Given the description of an element on the screen output the (x, y) to click on. 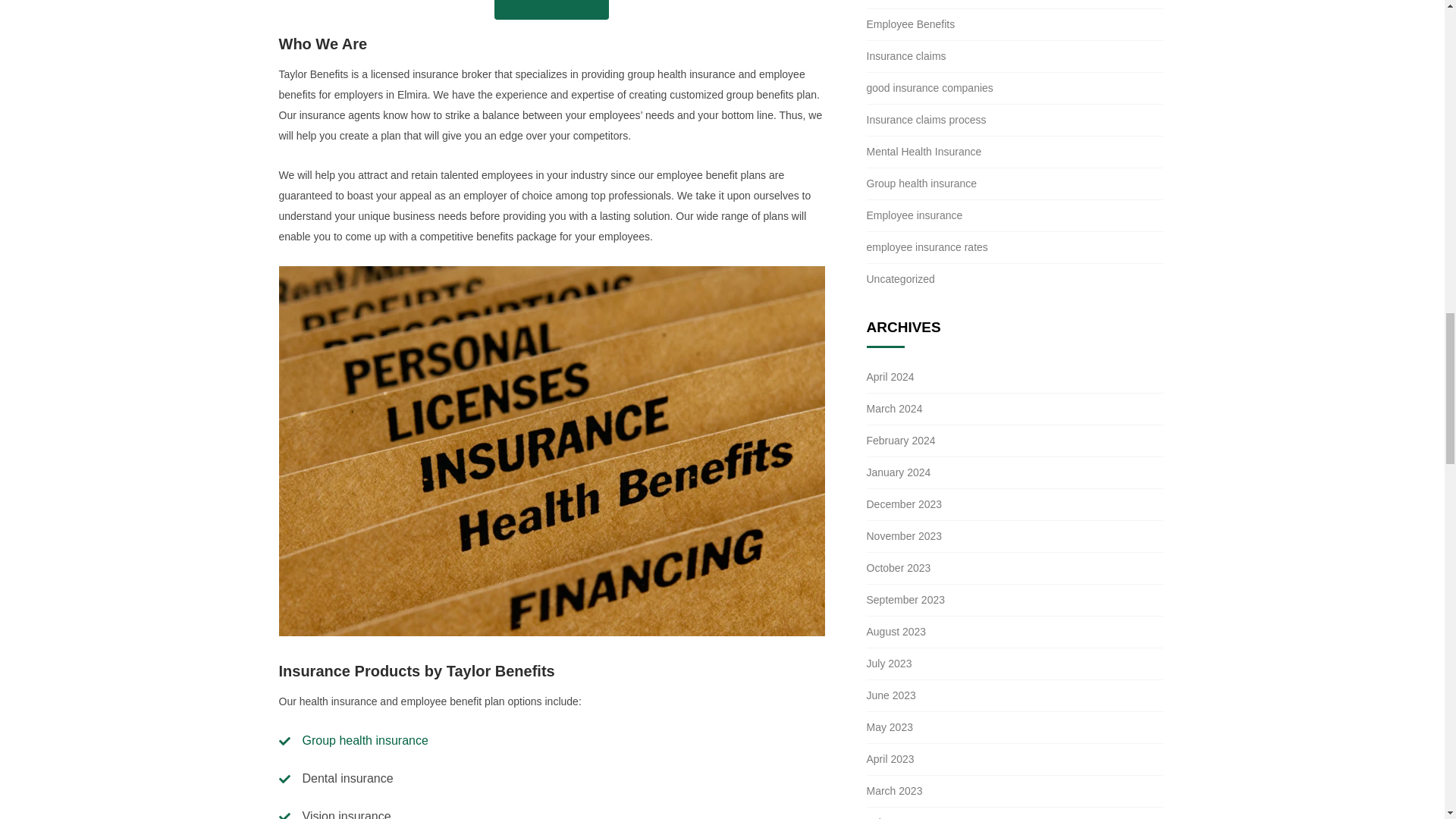
Group health insurance (364, 739)
800-903-6066 (551, 9)
